Given the description of an element on the screen output the (x, y) to click on. 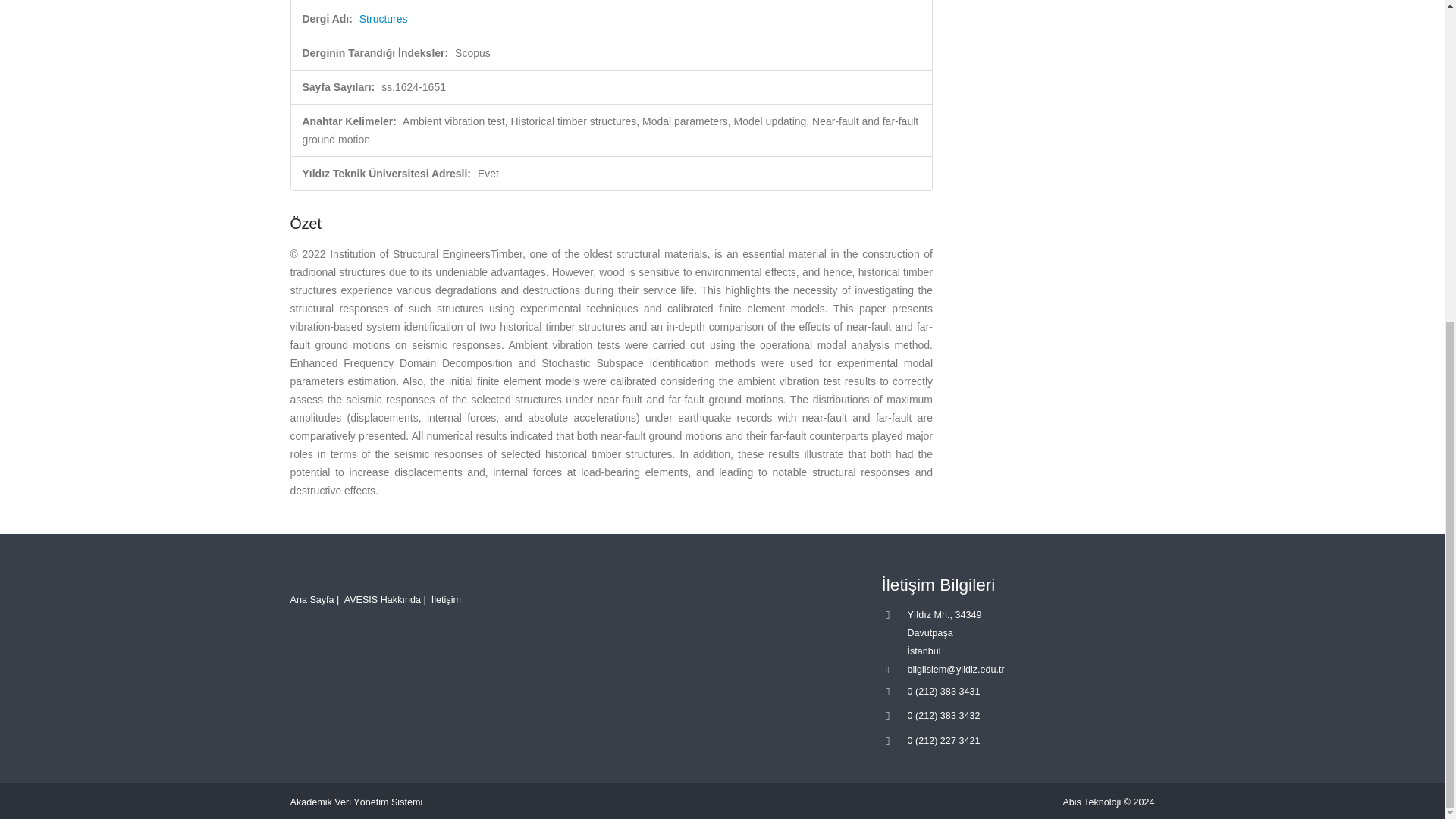
Structures (383, 19)
Ana Sayfa (311, 599)
Abis Teknoloji (1091, 801)
